Given the description of an element on the screen output the (x, y) to click on. 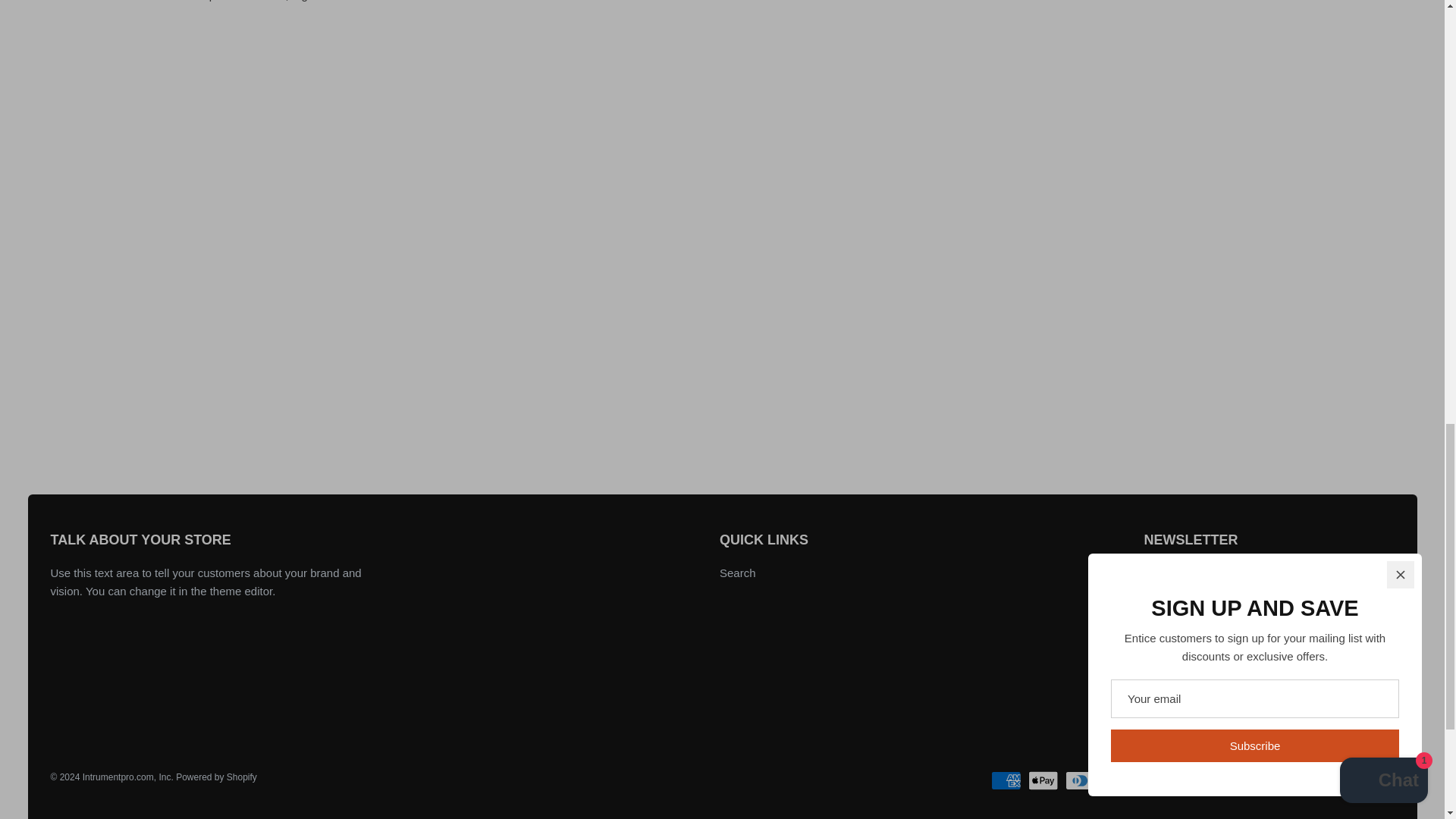
Mastercard (1227, 780)
Discover (1116, 780)
Google Pay (1190, 780)
PayPal (1264, 780)
Meta Pay (1153, 780)
American Express (1005, 780)
Diners Club (1079, 780)
Apple Pay (1042, 780)
Shop Pay (1302, 780)
